Given the description of an element on the screen output the (x, y) to click on. 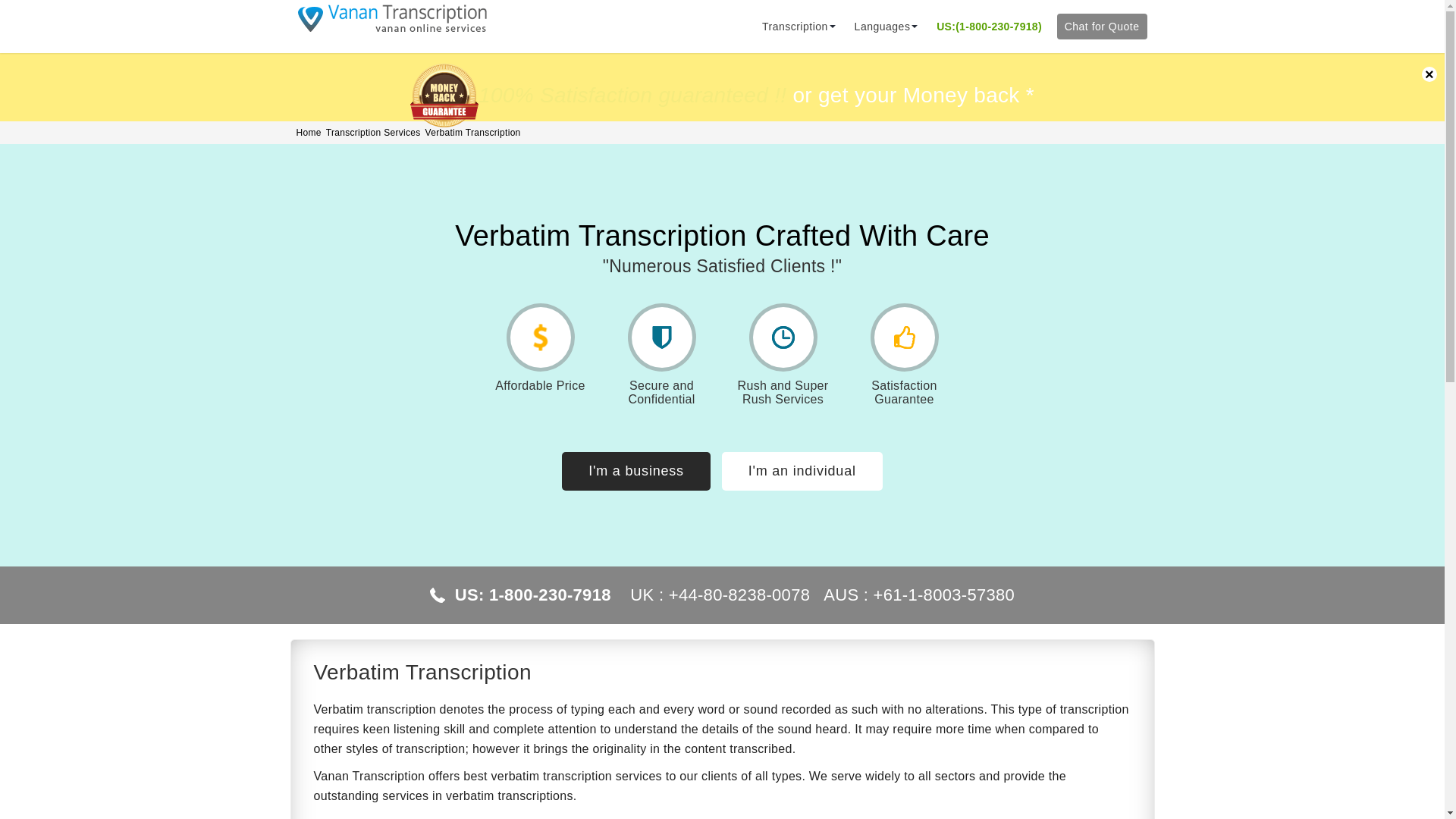
I'm an individual (802, 471)
Transcription Services (373, 132)
I'm a business (636, 471)
Chat for Quote (1102, 26)
US: 1-800-230-7918 (532, 594)
Home (307, 132)
Transcription (795, 26)
Languages (882, 26)
